Given the description of an element on the screen output the (x, y) to click on. 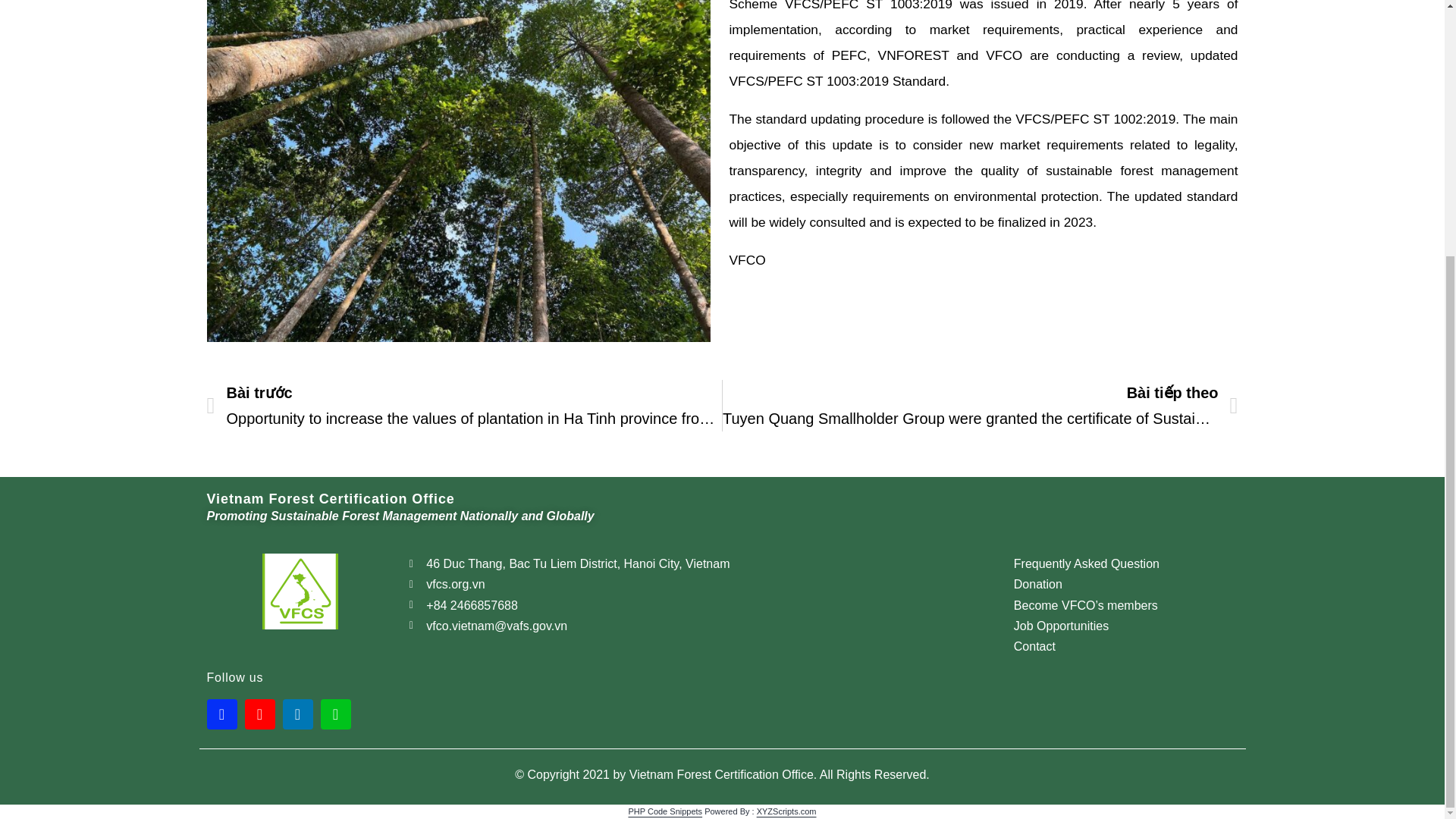
Frequently Asked Question (1123, 563)
cropped-VFCS-Logo.png (299, 591)
Insert PHP Snippet Wordpress Plugin (664, 810)
XYZScripts.com (786, 810)
Contact (1123, 646)
Donation (1123, 584)
PHP Code Snippets (664, 810)
vfcs.org.vn (703, 584)
